Given the description of an element on the screen output the (x, y) to click on. 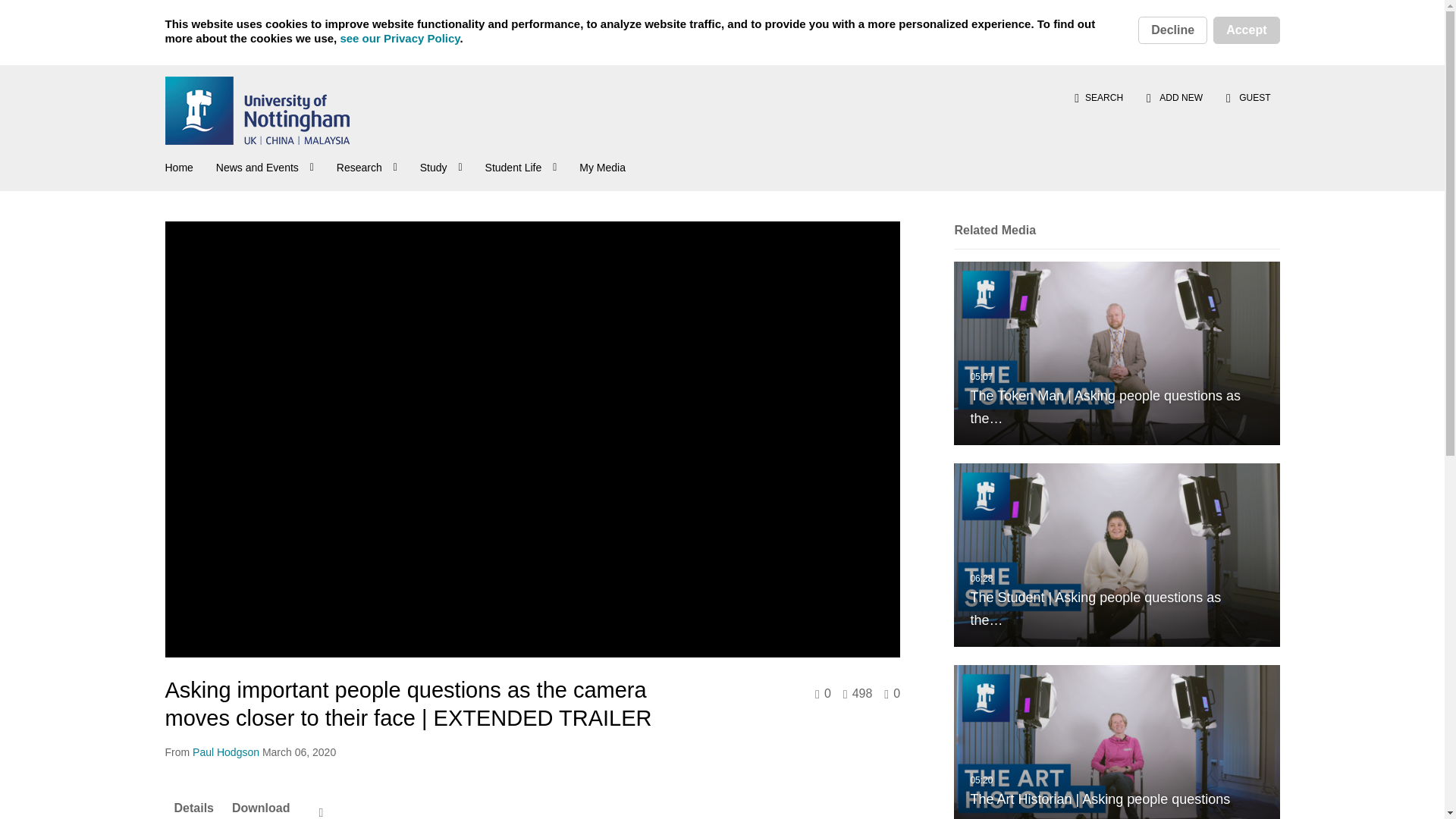
Decline (1172, 30)
Study (442, 165)
GUEST (1247, 97)
SEARCH (1098, 97)
Research (368, 165)
News and Events (266, 165)
see our Privacy Policy (399, 38)
Accept (1245, 30)
ADD NEW (1174, 97)
